Given the description of an element on the screen output the (x, y) to click on. 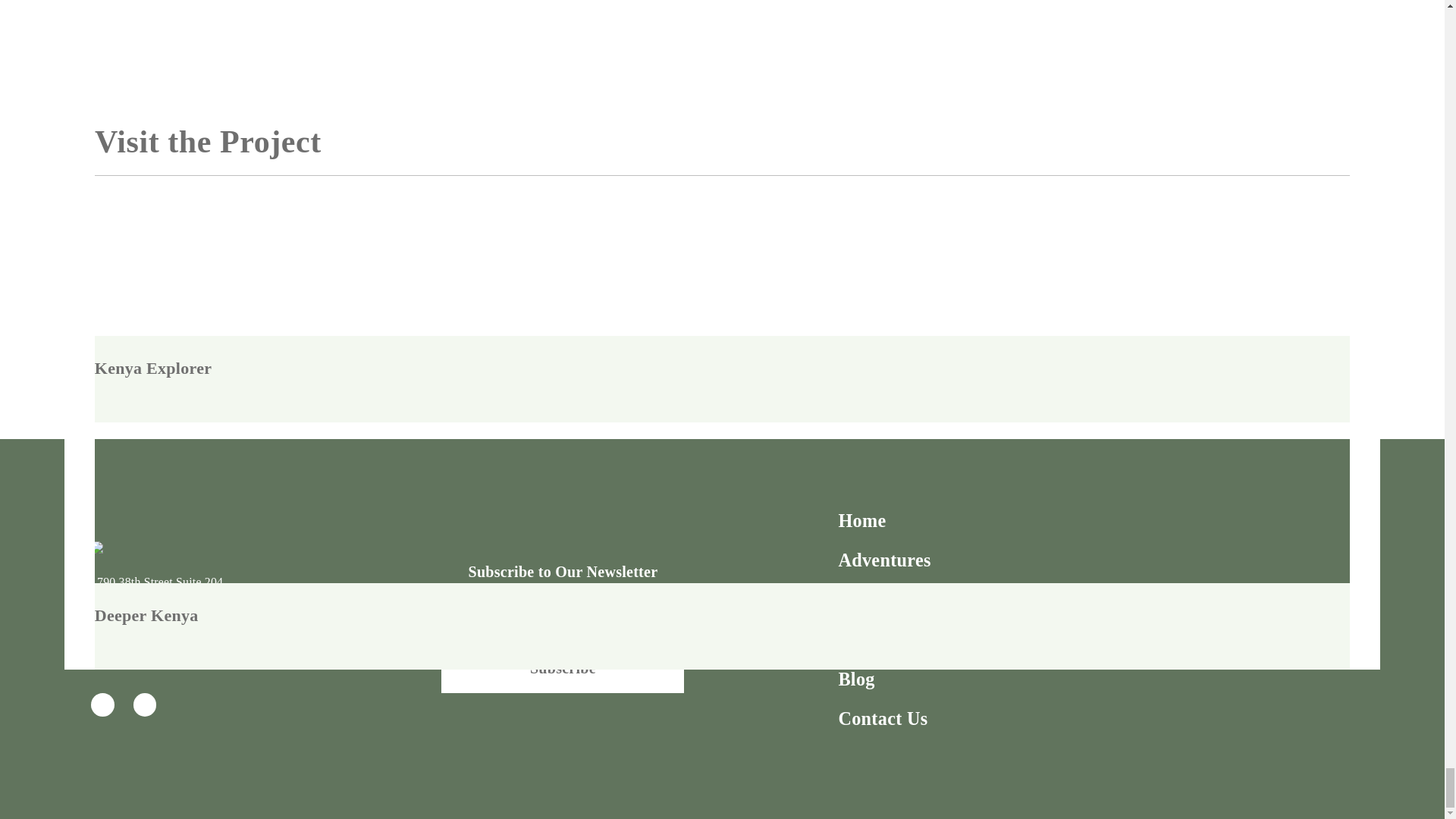
Subscribe (562, 667)
Facebook (102, 704)
Instagram (145, 704)
